Given the description of an element on the screen output the (x, y) to click on. 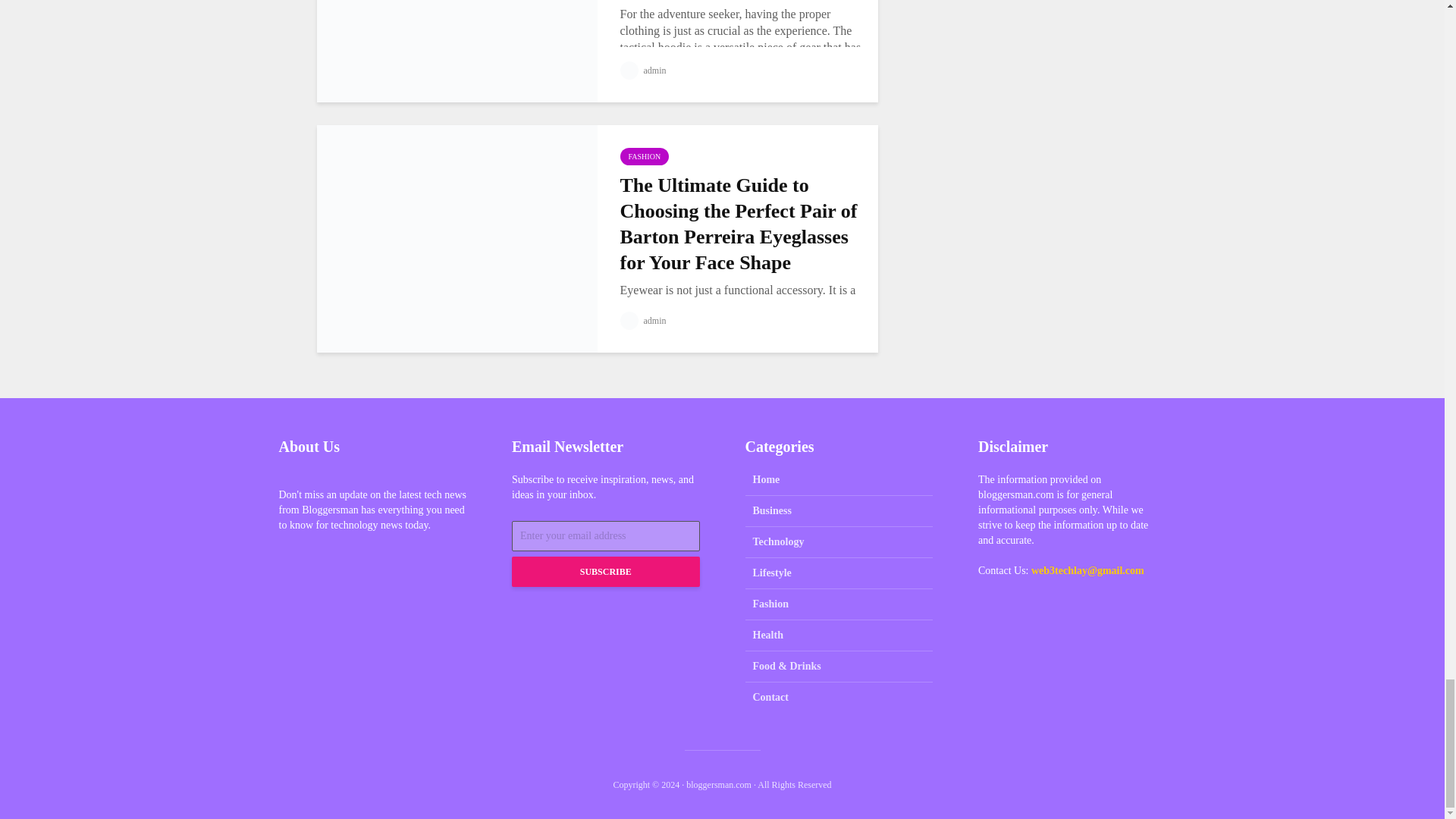
Subscribe (606, 571)
Subscribe (606, 571)
